Given the description of an element on the screen output the (x, y) to click on. 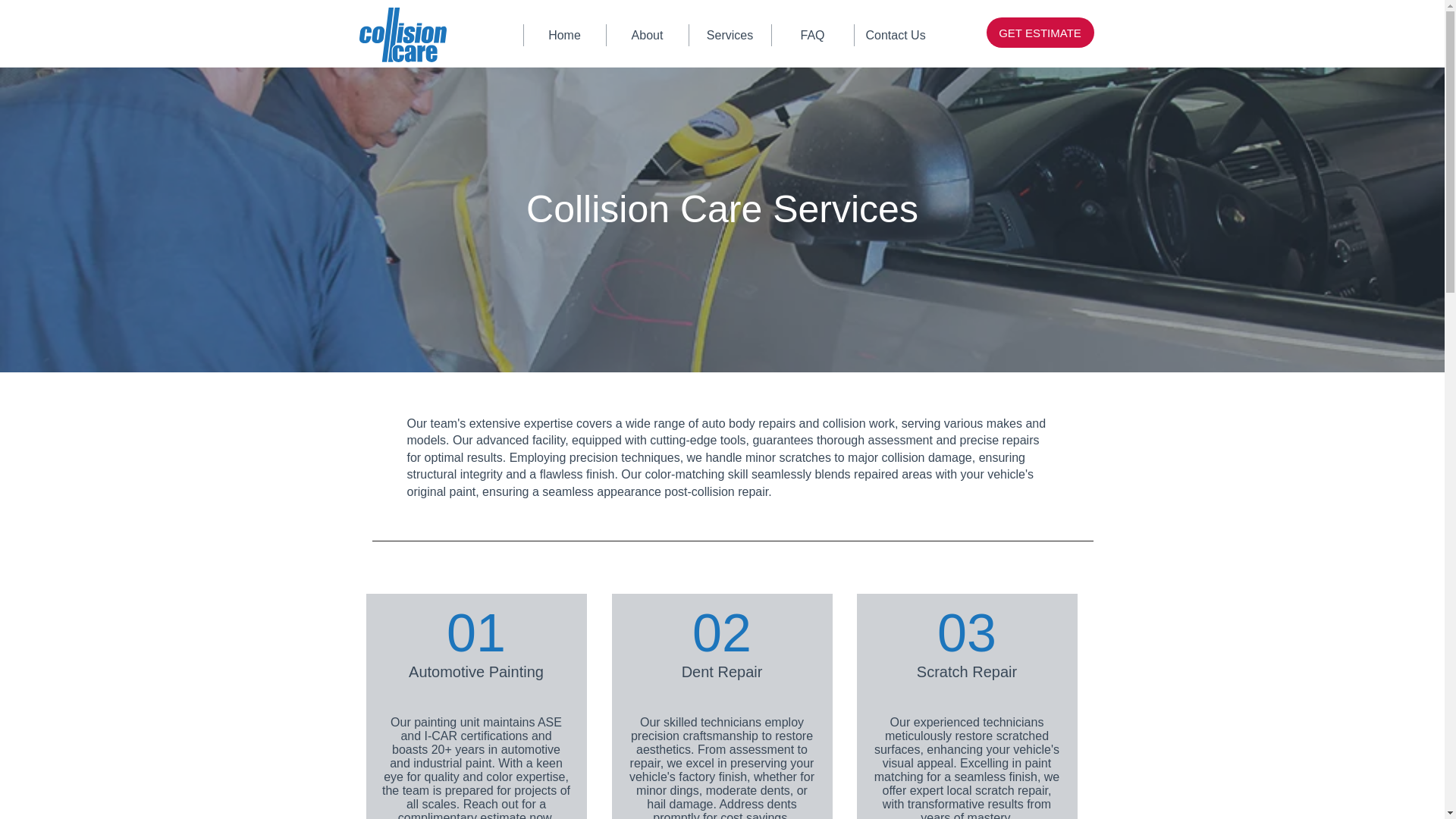
GET ESTIMATE (1039, 32)
FAQ (811, 34)
Services (729, 34)
Home (563, 34)
Contact Us (894, 34)
About (646, 34)
